Given the description of an element on the screen output the (x, y) to click on. 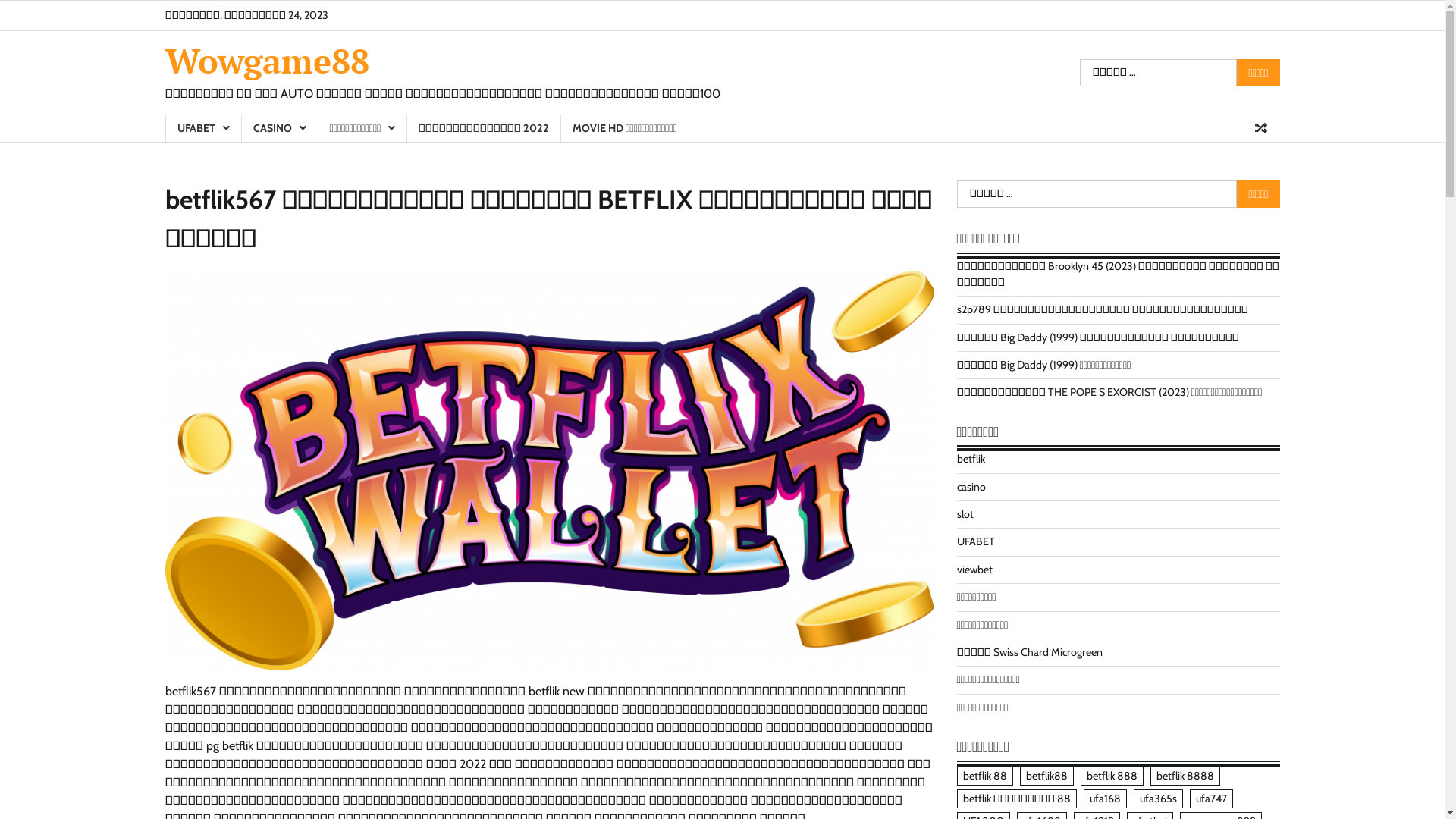
ufa365s Element type: text (1157, 798)
CASINO Element type: text (279, 128)
betflik Element type: text (971, 458)
betflik 8888 Element type: text (1184, 775)
View Random Post Element type: hover (1260, 127)
viewbet Element type: text (974, 569)
UFABET Element type: text (203, 128)
slot Element type: text (965, 513)
betflik 88 Element type: text (985, 775)
betflik88 Element type: text (1046, 775)
UFABET Element type: text (975, 541)
ufa168 Element type: text (1104, 798)
betflik 888 Element type: text (1110, 775)
Wowgame88 Element type: text (267, 60)
ufa747 Element type: text (1210, 798)
casino Element type: text (971, 486)
